Given the description of an element on the screen output the (x, y) to click on. 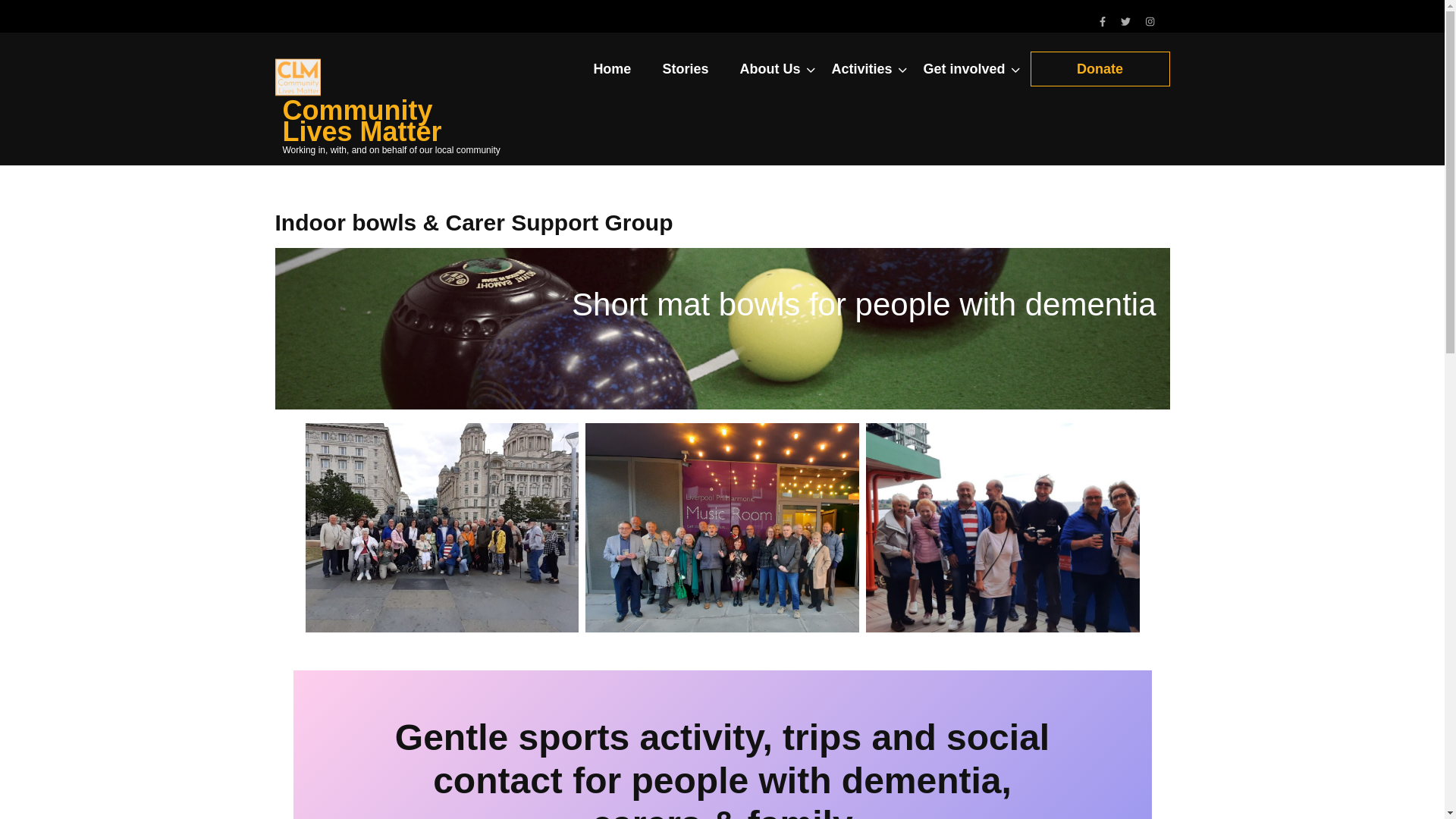
Home (611, 75)
Stories (684, 75)
About Us (769, 75)
Community Lives Matter (361, 121)
